Given the description of an element on the screen output the (x, y) to click on. 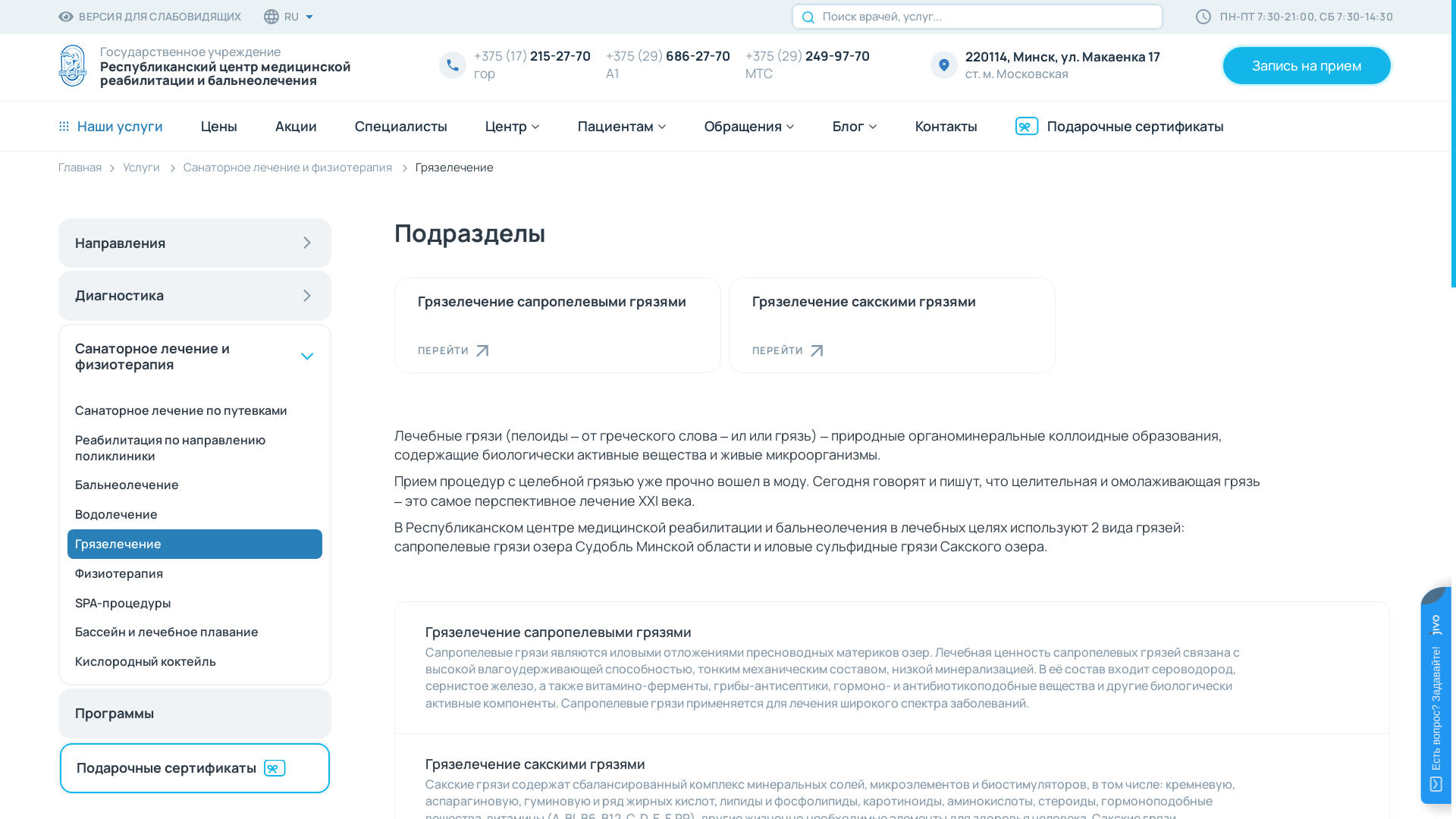
RU Element type: text (290, 16)
+375 (29) 249-97-70 Element type: text (807, 55)
+375 (17) 215-27-70 Element type: text (531, 55)
+375 (29) 686-27-70 Element type: text (667, 55)
